Given the description of an element on the screen output the (x, y) to click on. 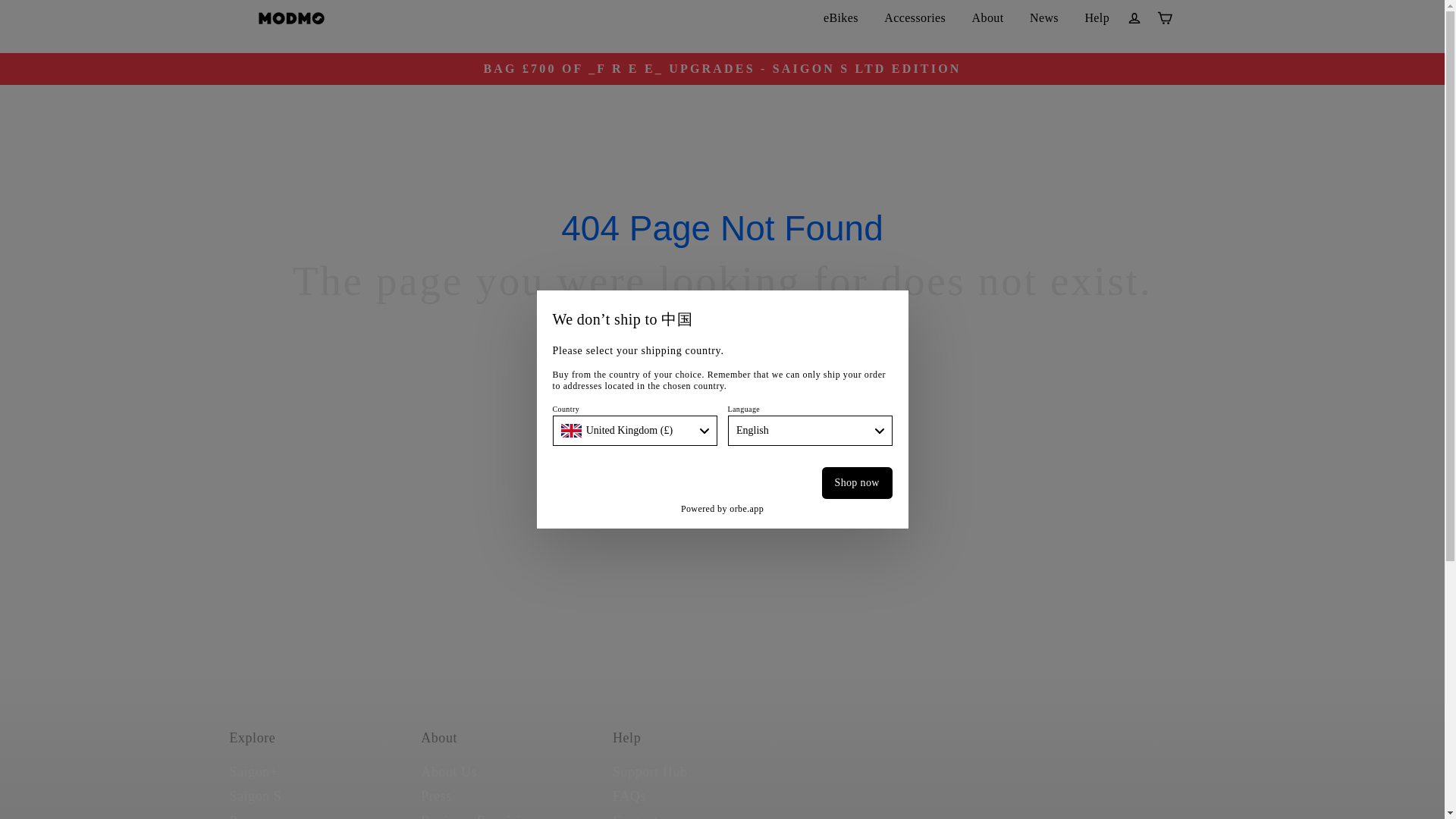
Help (1097, 17)
News (1043, 17)
Log in (1134, 17)
orbe.app (745, 508)
Accessories (914, 17)
About (987, 17)
Cart (1164, 17)
Shop now (857, 482)
English (810, 430)
